Given the description of an element on the screen output the (x, y) to click on. 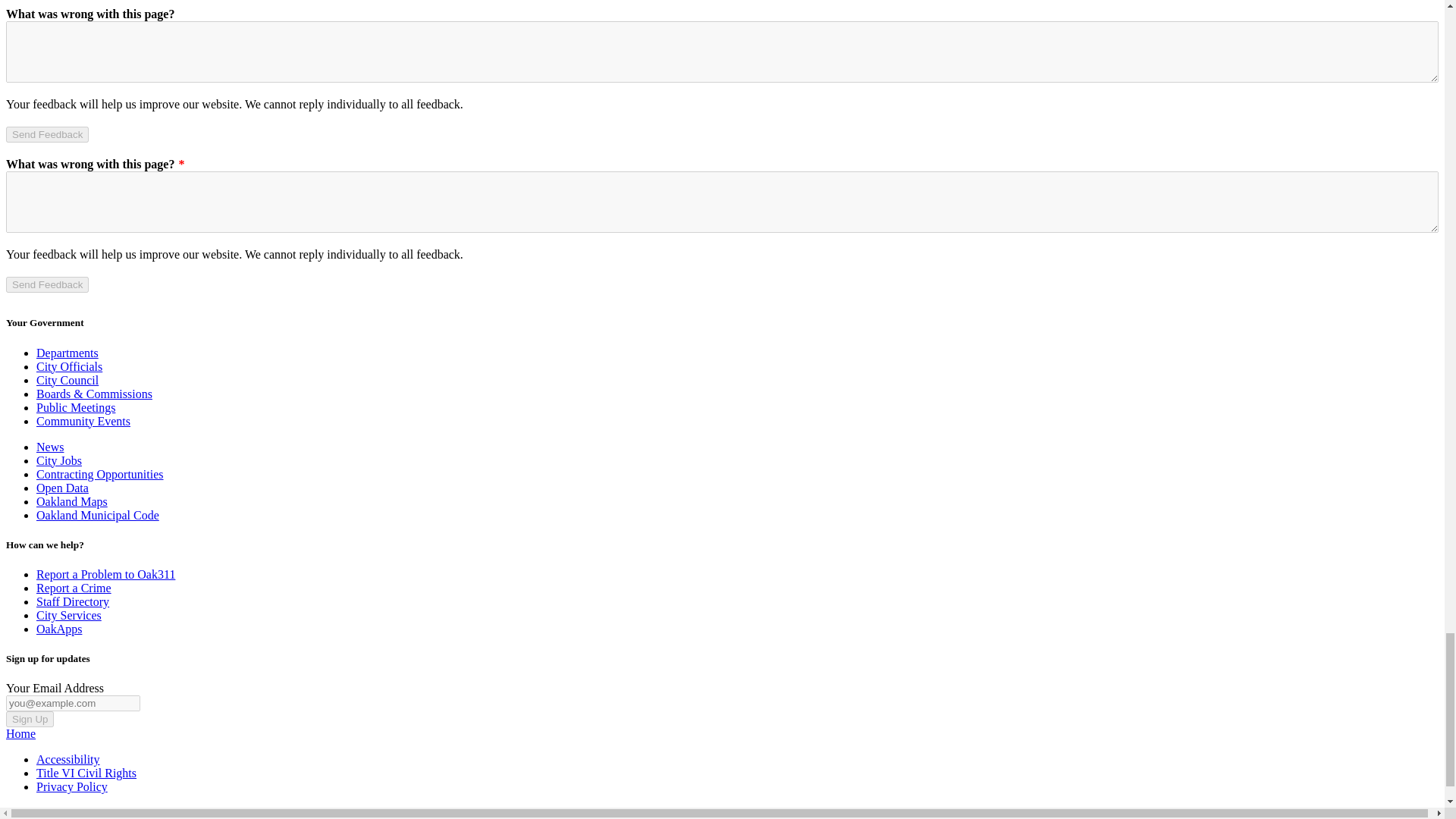
Sign Up (29, 719)
